Given the description of an element on the screen output the (x, y) to click on. 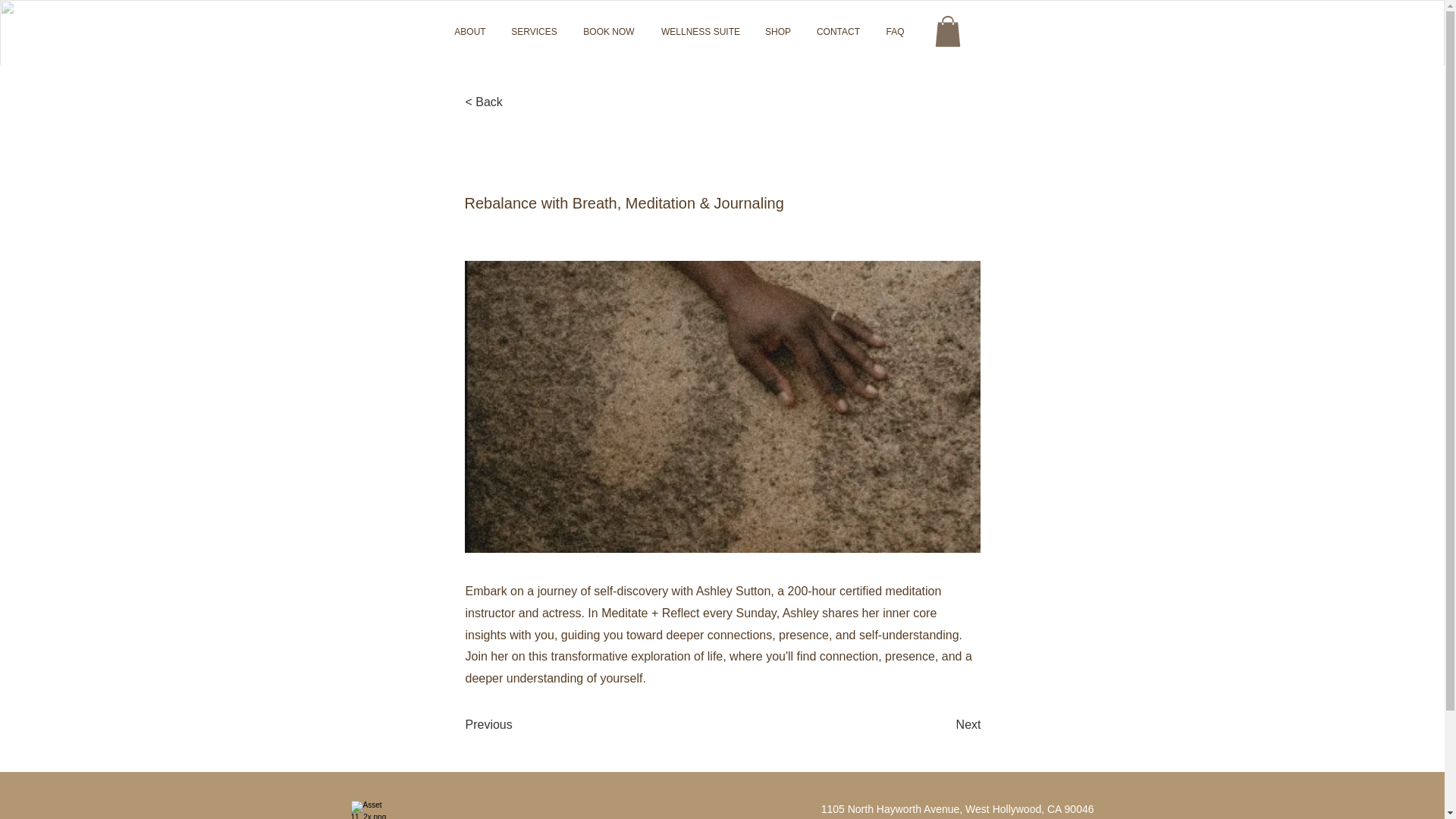
BOOK NOW (608, 31)
CONTACT (838, 31)
WELLNESS SUITE (700, 31)
Next (943, 725)
FAQ (895, 31)
SERVICES (534, 31)
ABOUT (470, 31)
SHOP (777, 31)
Previous (515, 725)
